Given the description of an element on the screen output the (x, y) to click on. 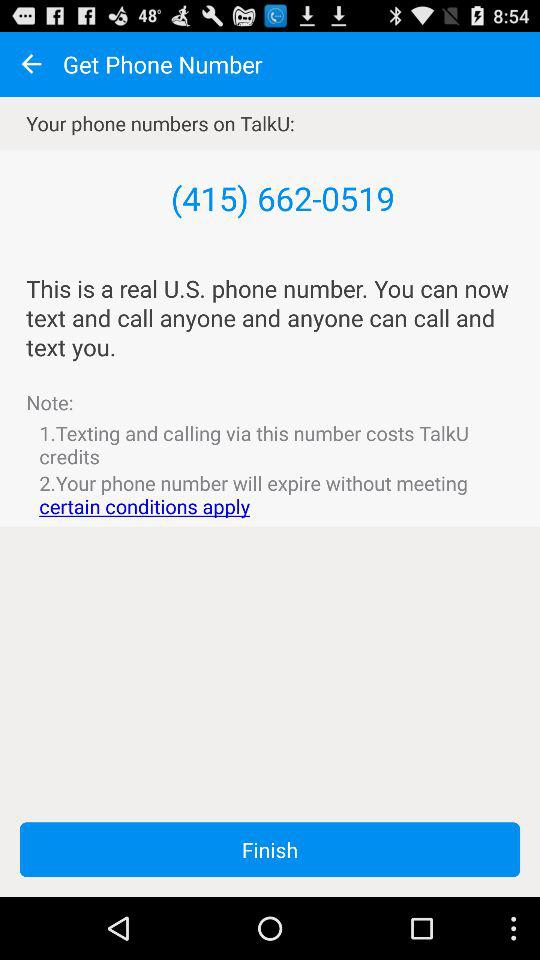
tap item below 1 texting and icon (269, 494)
